Given the description of an element on the screen output the (x, y) to click on. 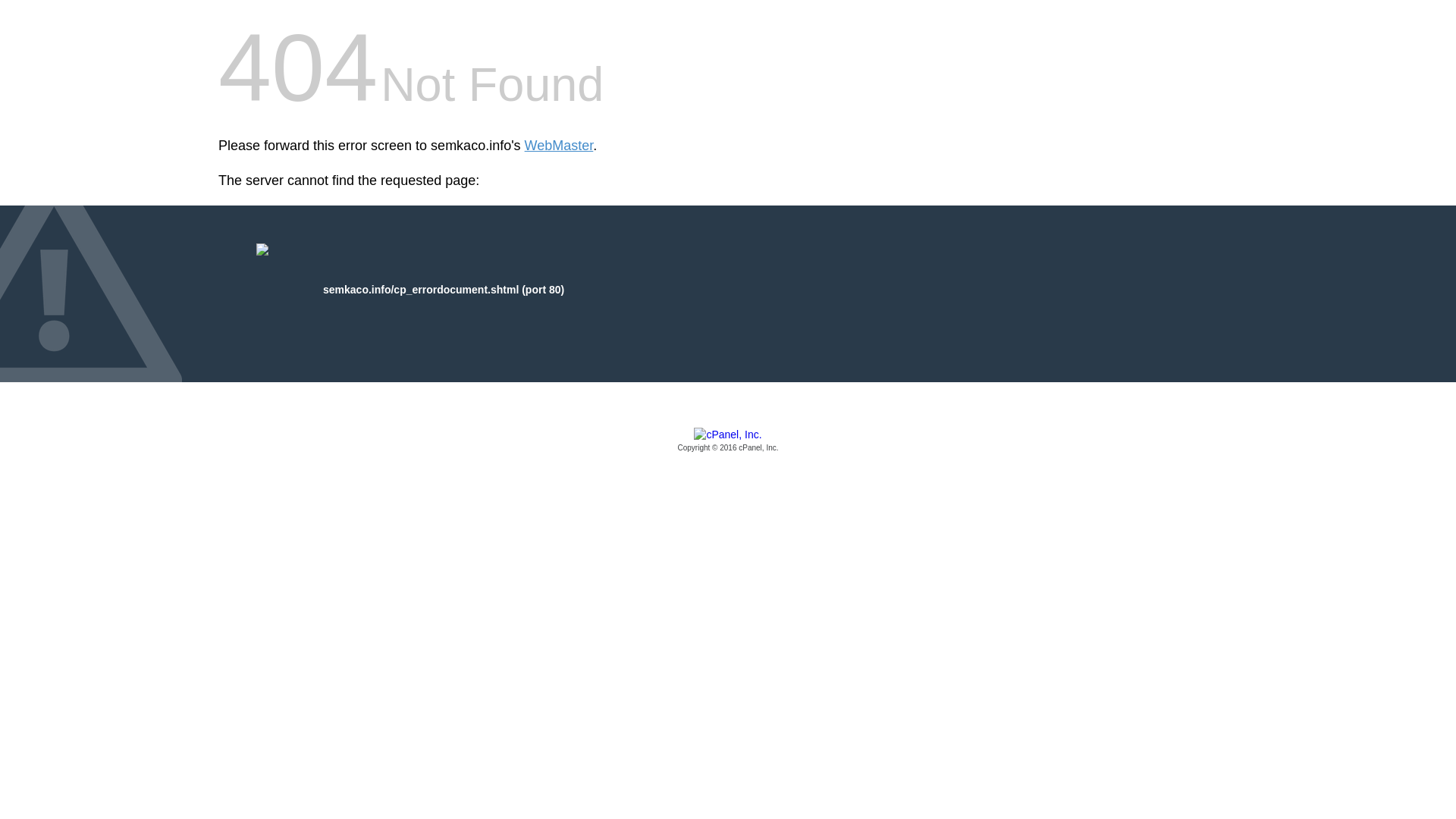
cPanel, Inc. (727, 440)
WebMaster (559, 145)
